Given the description of an element on the screen output the (x, y) to click on. 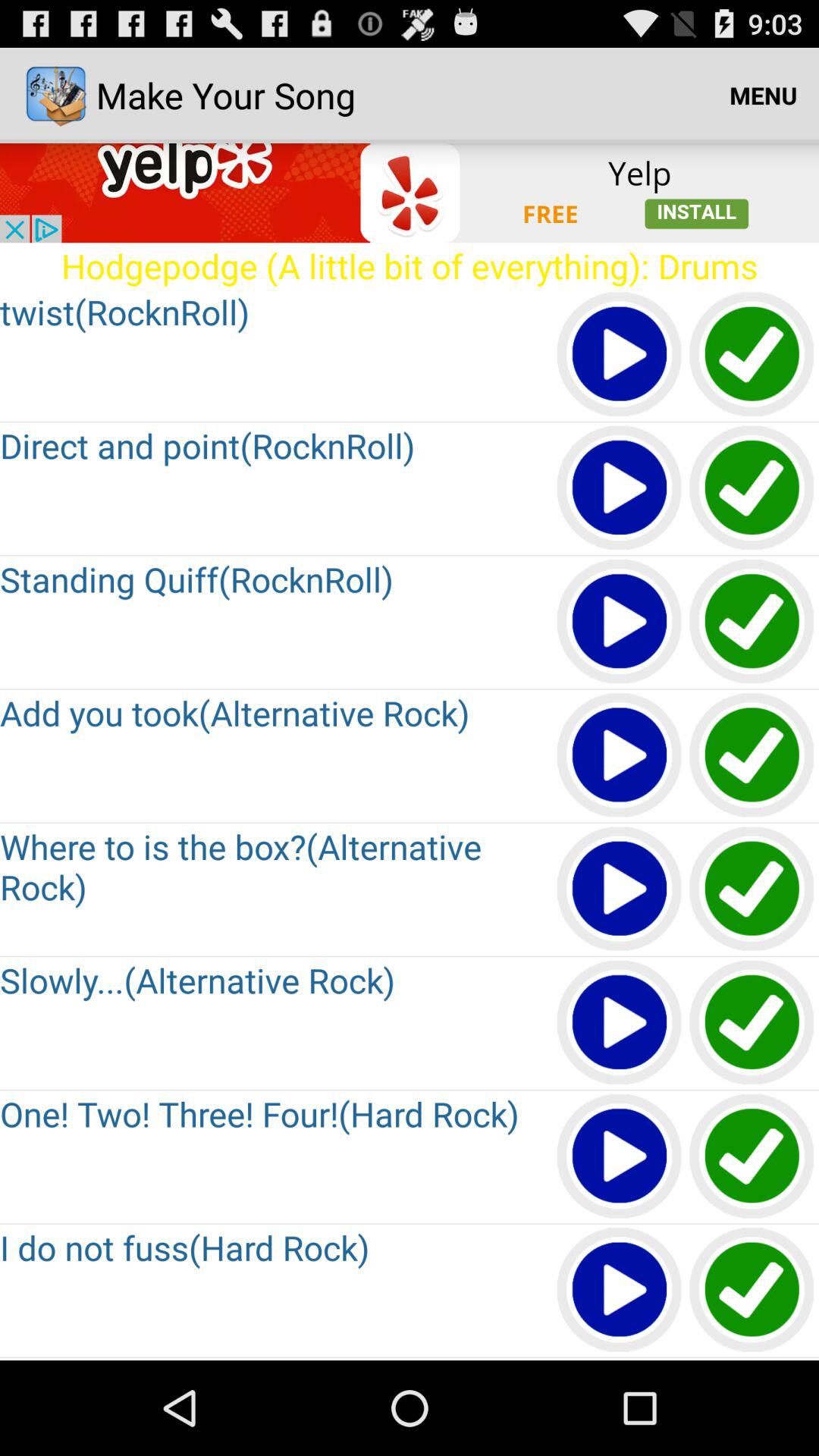
play track (619, 1023)
